Given the description of an element on the screen output the (x, y) to click on. 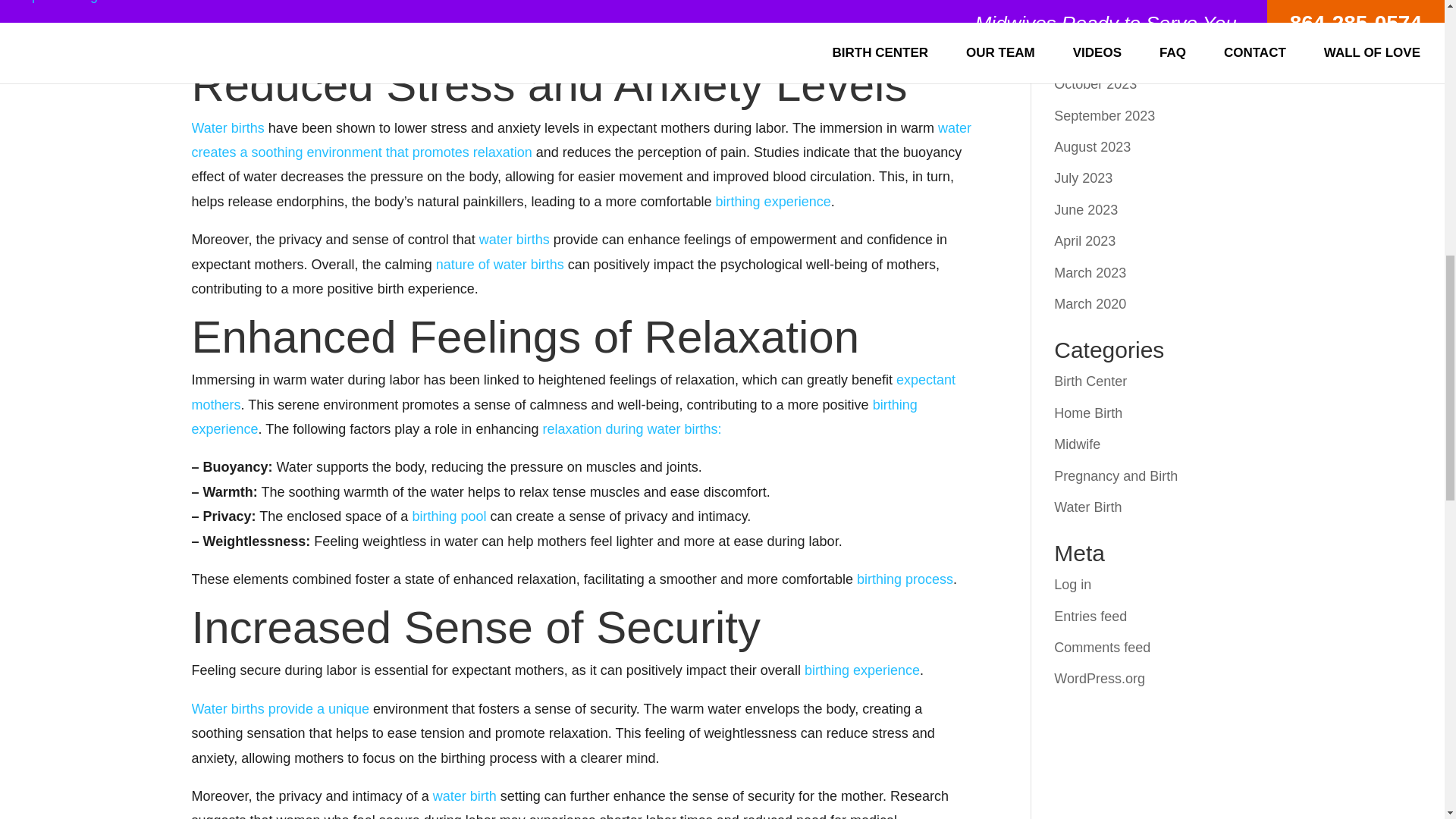
birthing process (905, 579)
relaxation during water births: (630, 428)
nature of water births (499, 263)
emotional support and comfort provided during labor (560, 9)
birthing experience (773, 201)
expectant mothers (572, 391)
water births (514, 239)
birthing pool (449, 516)
